Given the description of an element on the screen output the (x, y) to click on. 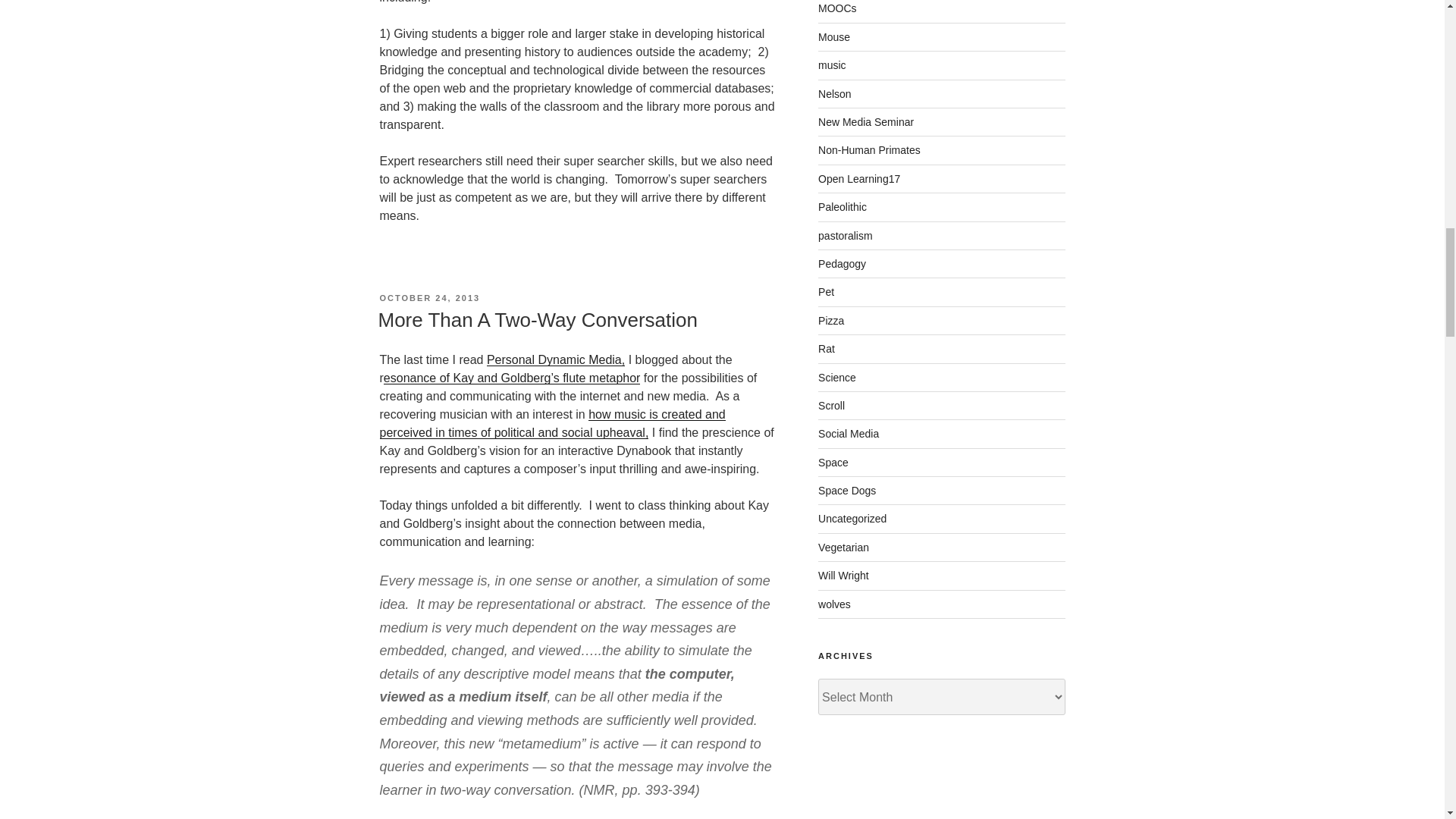
Personal Dynamic Media, (555, 359)
More Than A Two-Way Conversation (537, 319)
Personal Dynamic Media, NMR (555, 359)
Like a pizza or maybe a Theremin (512, 377)
OCTOBER 24, 2013 (429, 297)
Music for the Revolution (551, 422)
